Given the description of an element on the screen output the (x, y) to click on. 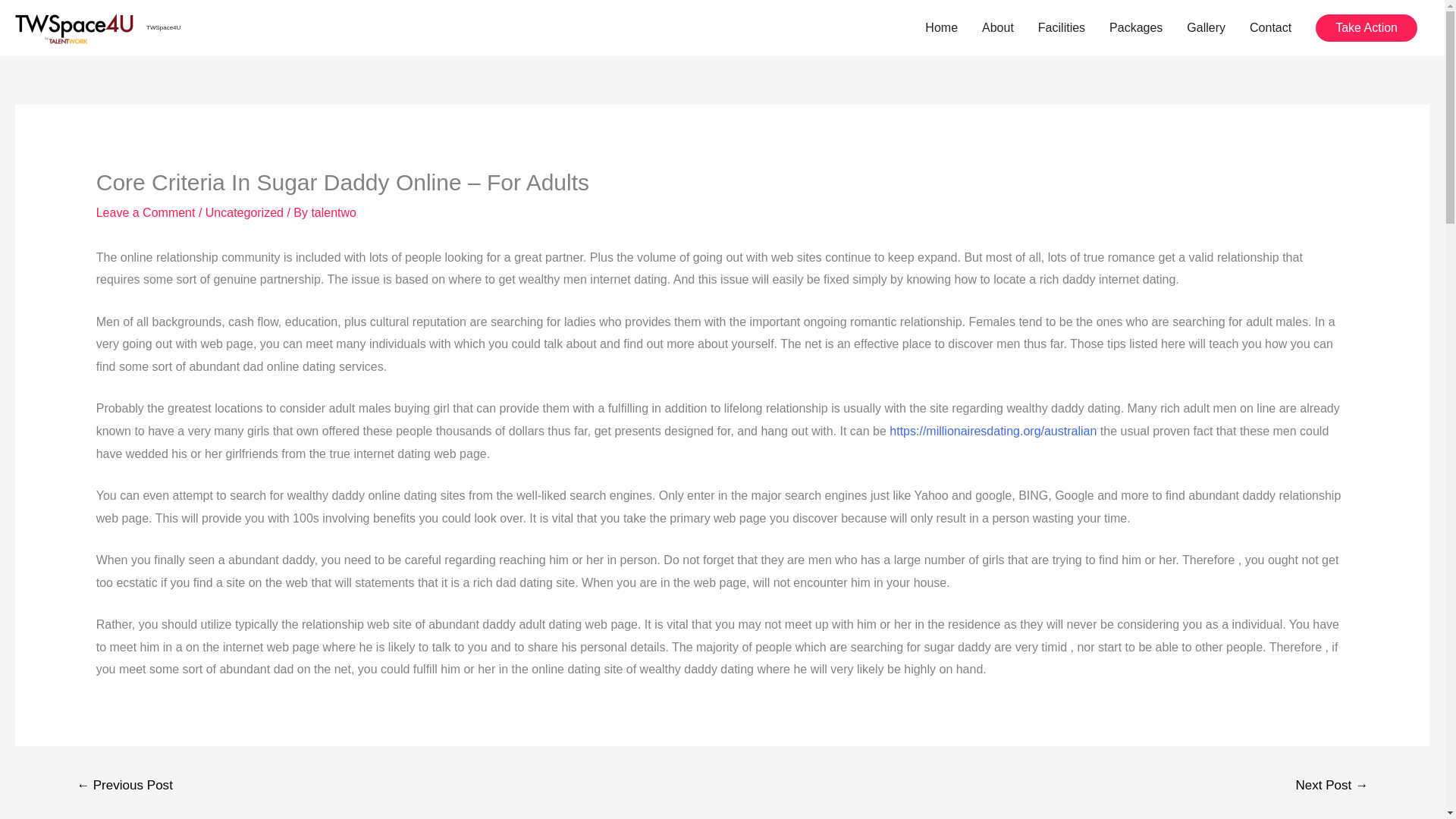
Take Action (1366, 27)
Leave a Comment (145, 212)
Uncategorized (244, 212)
About (997, 28)
View all posts by talentwo (333, 212)
Facilities (1061, 28)
Contact (1270, 28)
Home (940, 28)
TWSpace4U (163, 27)
talentwo (333, 212)
Gallery (1205, 28)
Packages (1135, 28)
